Given the description of an element on the screen output the (x, y) to click on. 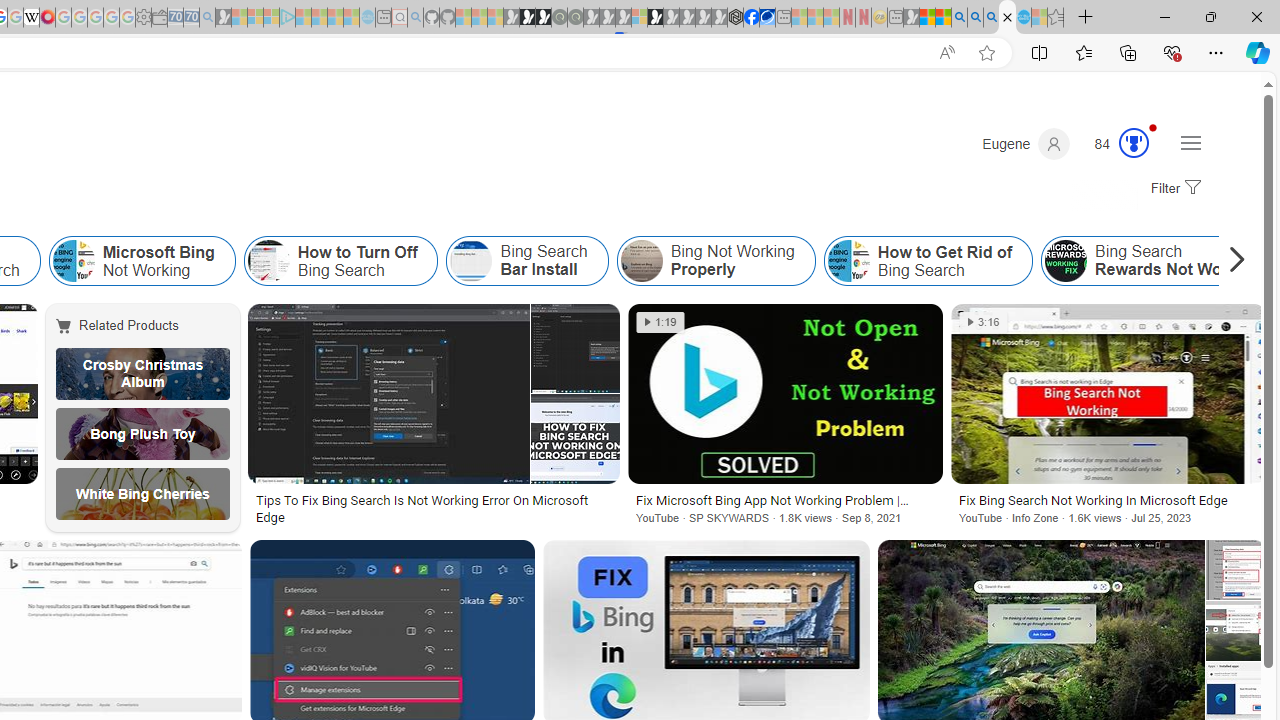
Fix Bing Search Not Working In Microsoft Edge (1108, 500)
Fix Bing Search Not Working In Microsoft Edge (1108, 500)
Bing Bong Plush Toy (143, 434)
White Bing Cherries (143, 493)
Animation (1153, 127)
